Given the description of an element on the screen output the (x, y) to click on. 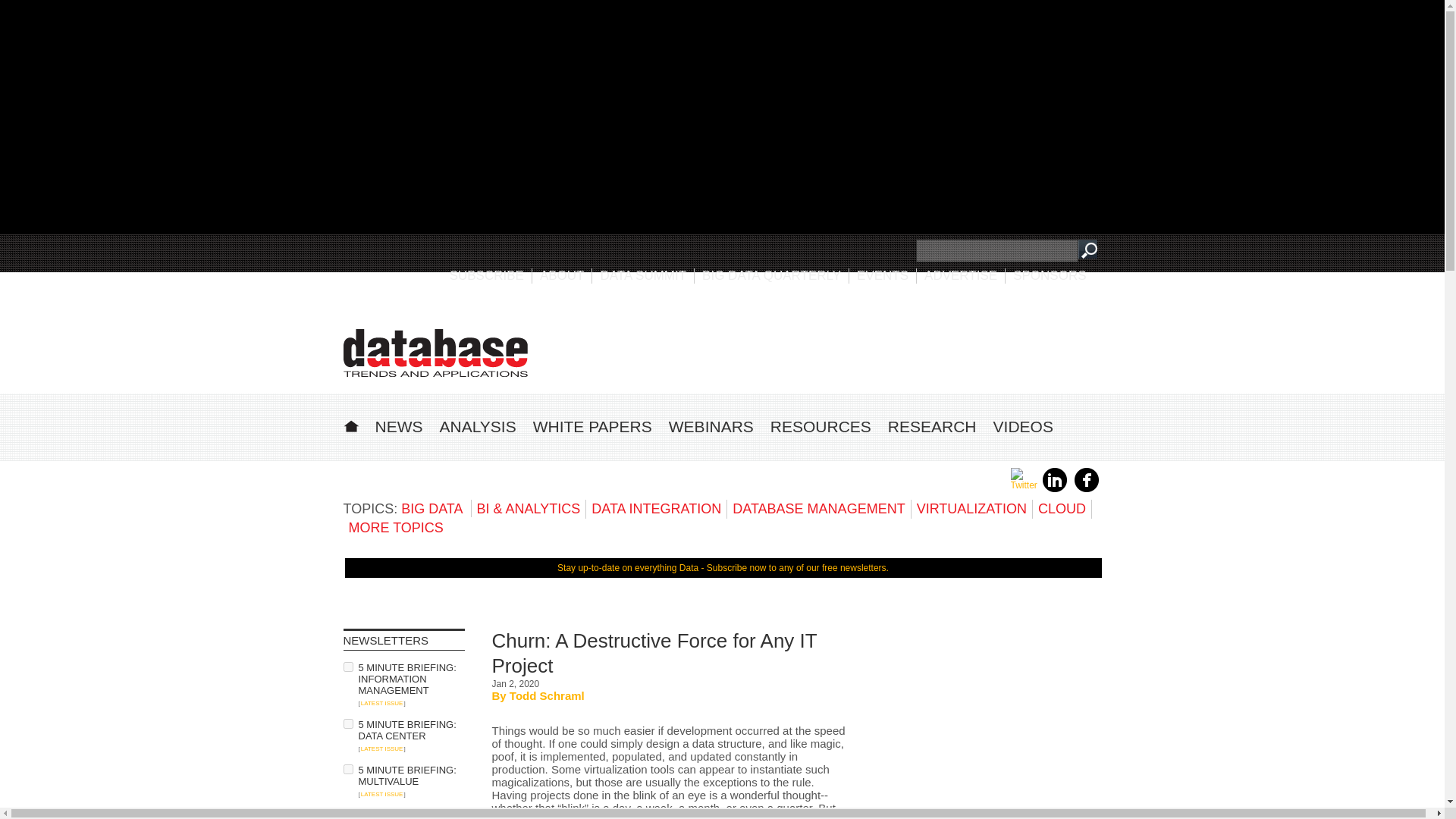
DATA SUMMIT (642, 275)
ADVERTISE (960, 275)
on (347, 666)
Click for more articles by this author (547, 695)
on (347, 723)
NEWS (398, 425)
on (347, 768)
ANALYSIS (477, 425)
WEBINARS (711, 425)
SUBSCRIBE (486, 275)
